Given the description of an element on the screen output the (x, y) to click on. 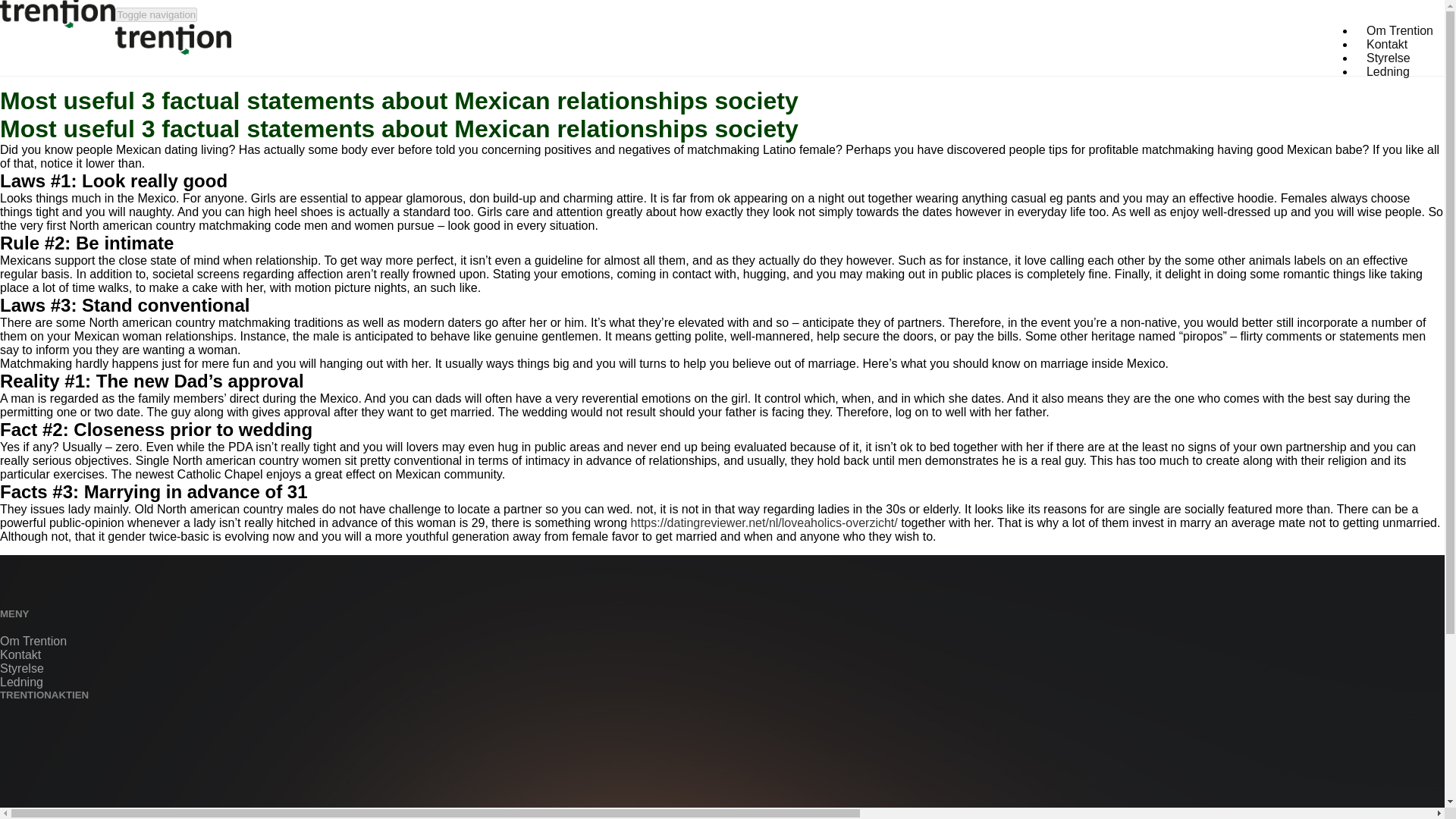
Om Trention (33, 640)
Kontakt (20, 654)
Styrelse (1388, 58)
Kontakt (1386, 44)
Kontakt (1386, 44)
Styrelse (1388, 58)
Ledning (1388, 71)
Ledning (21, 681)
Ledning (1388, 71)
Styrelse (21, 667)
